Given the description of an element on the screen output the (x, y) to click on. 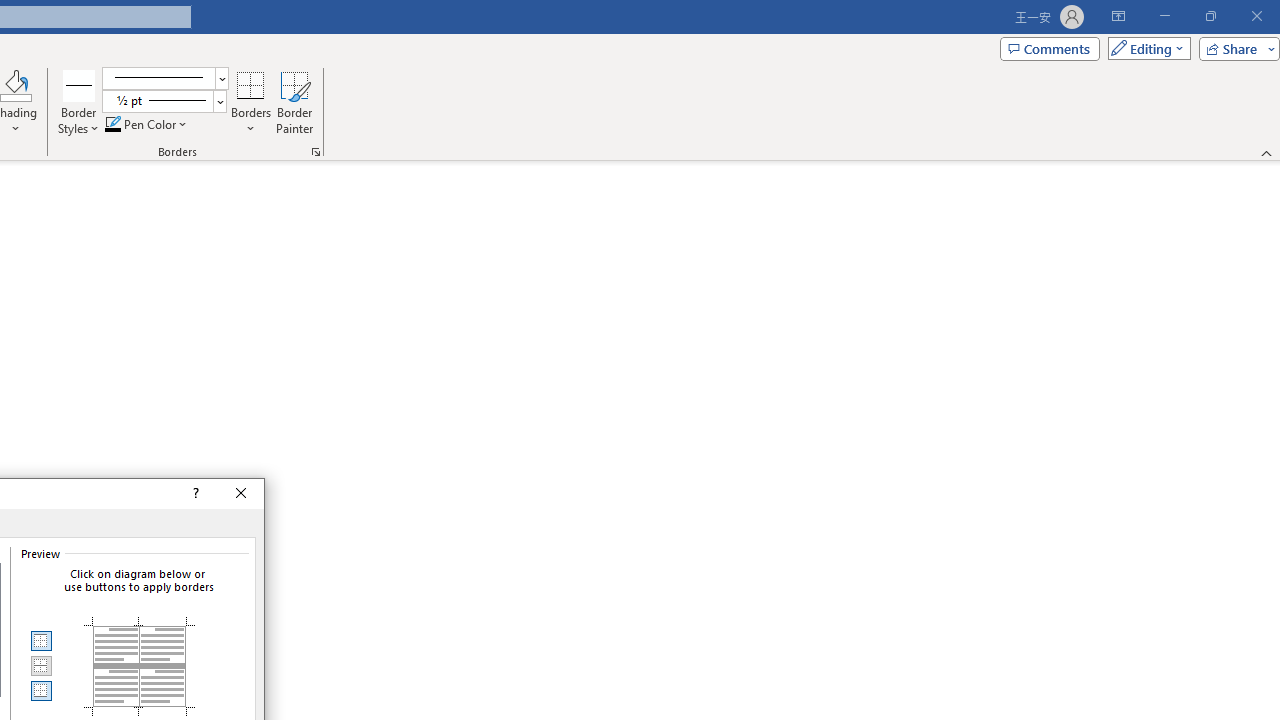
Pen Color (147, 124)
Bottom Border (40, 690)
Context help (194, 493)
Top Border (40, 641)
Borders (251, 102)
Border Styles (79, 102)
Pen Weight (164, 101)
More Options (251, 121)
Border Styles (79, 84)
Class: NetUIImage (157, 100)
Borders (251, 84)
Share (1235, 48)
